Given the description of an element on the screen output the (x, y) to click on. 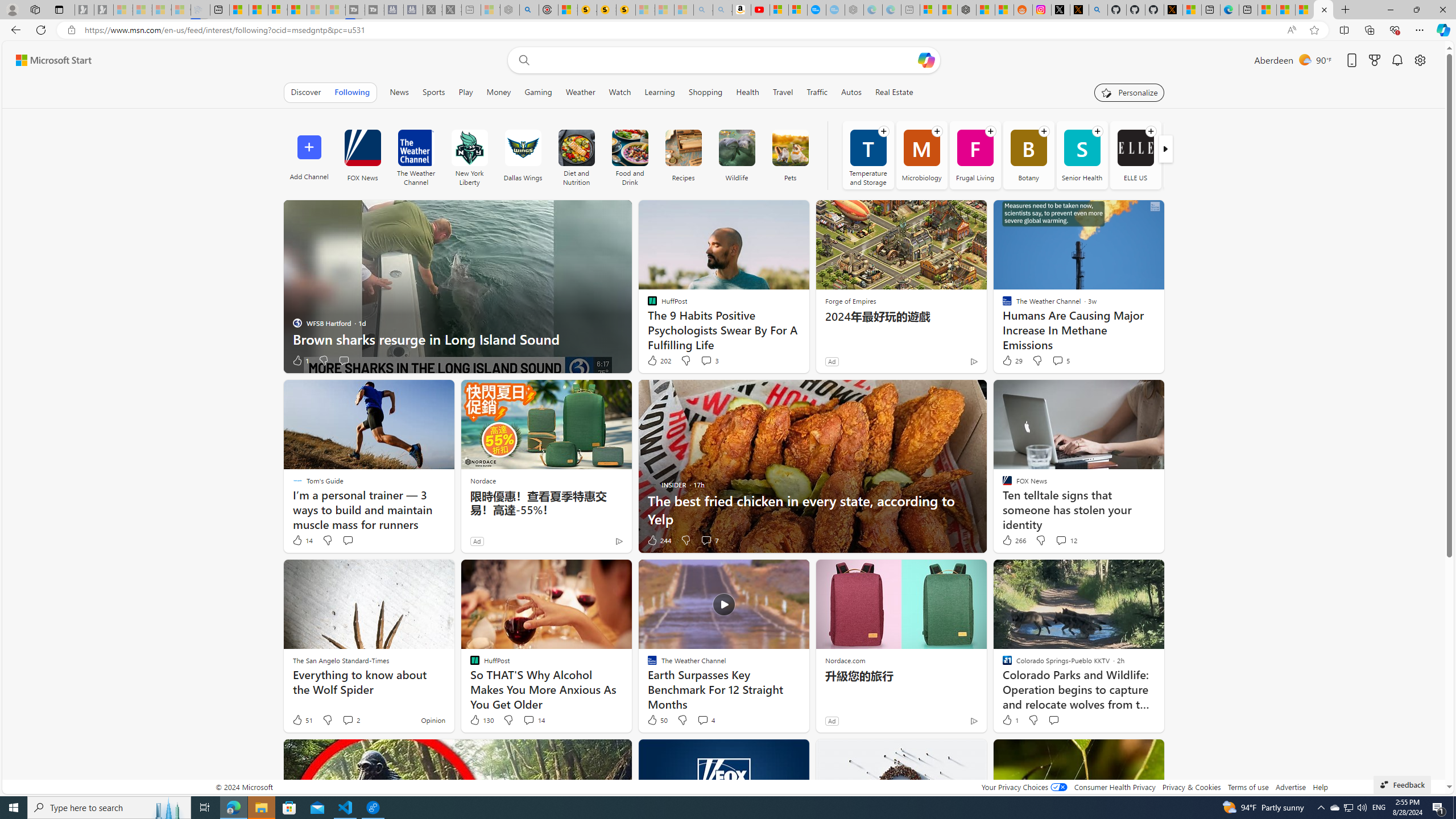
View comments 4 Comment (703, 719)
Hide this story (1129, 752)
App bar (728, 29)
Weather (580, 92)
Wildlife - MSN - Sleeping (490, 9)
poe - Search (529, 9)
